Given the description of an element on the screen output the (x, y) to click on. 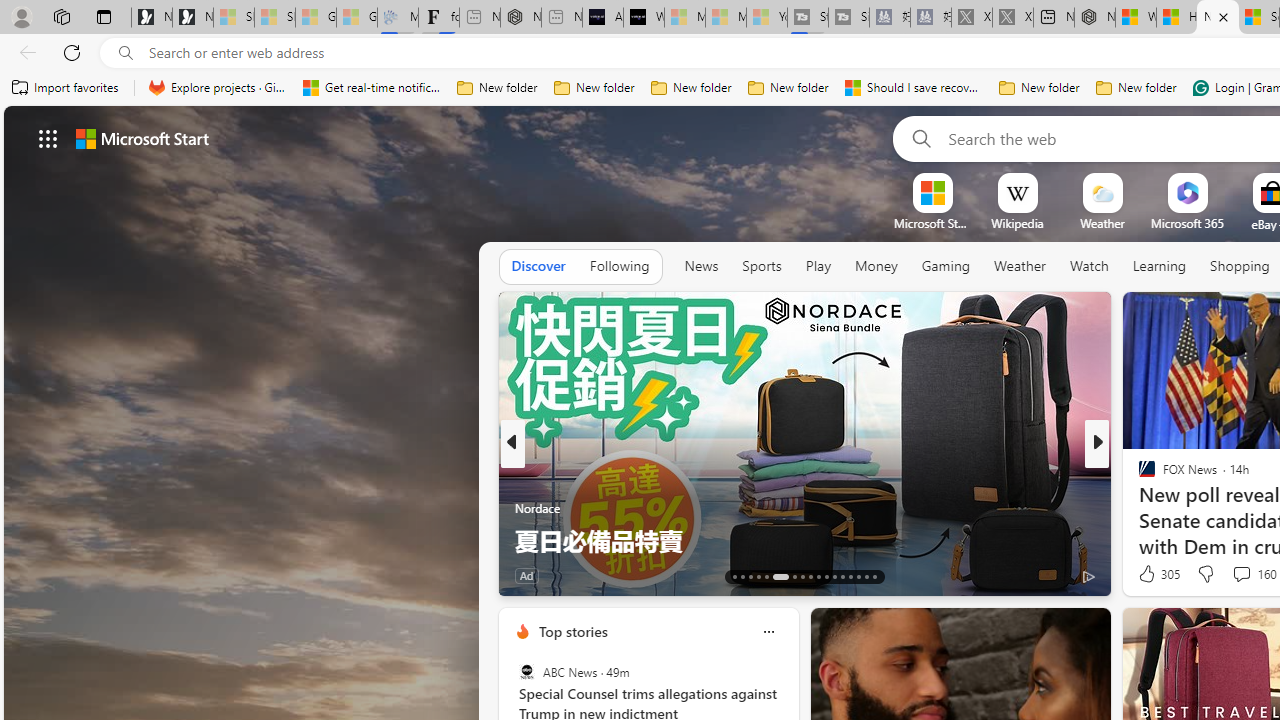
AI Voice Changer for PC and Mac - Voice.ai (602, 17)
Money (876, 267)
What's the best AI voice generator? - voice.ai (643, 17)
94 Like (1149, 574)
View comments 6 Comment (1234, 575)
Discover (538, 267)
AutomationID: tab-21 (810, 576)
Eat This, Not That! (1138, 507)
X - Sleeping (1012, 17)
Start the conversation (1235, 574)
Nordace - #1 Japanese Best-Seller - Siena Smart Backpack (520, 17)
